Given the description of an element on the screen output the (x, y) to click on. 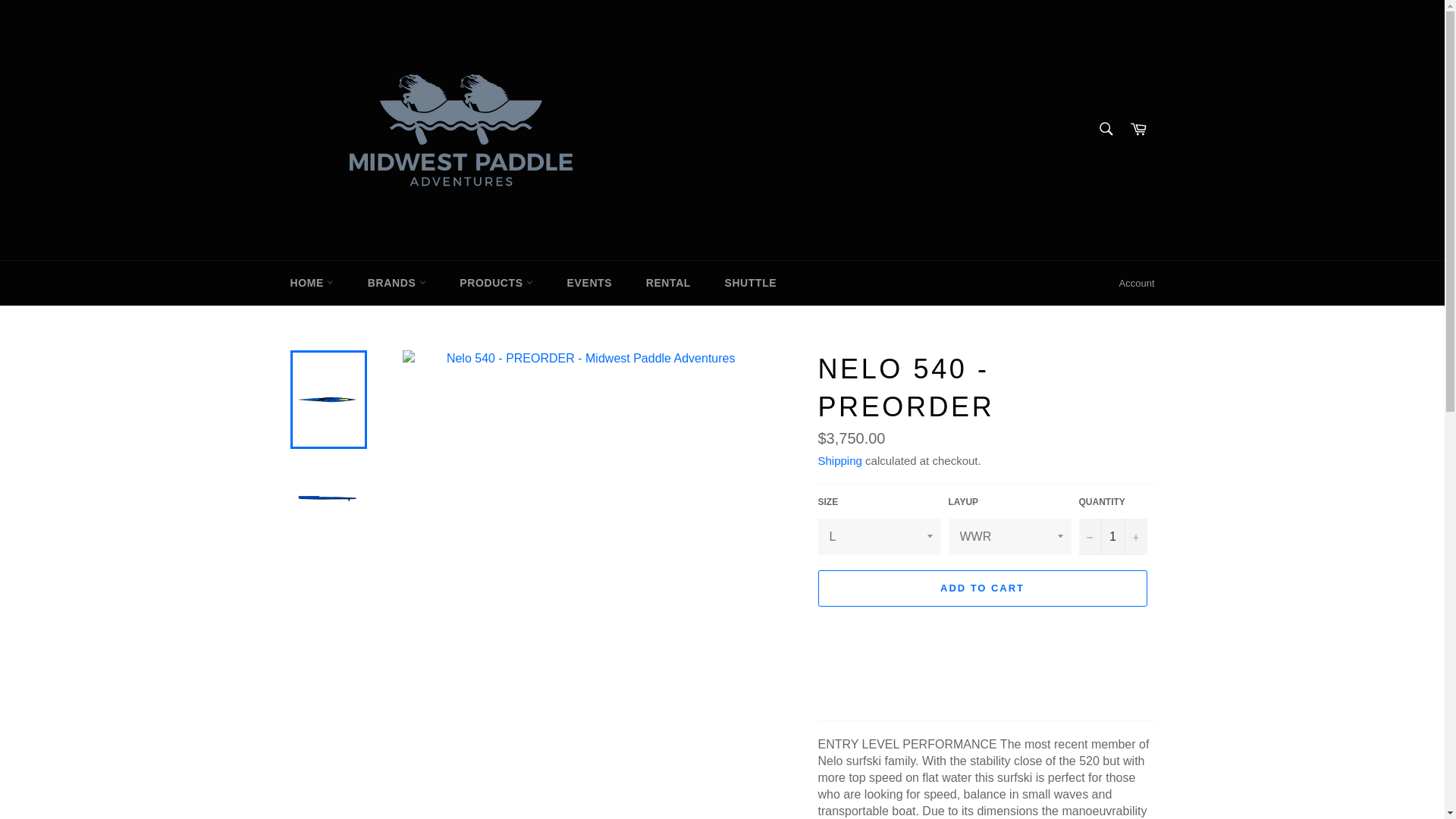
1 (1112, 536)
